Given the description of an element on the screen output the (x, y) to click on. 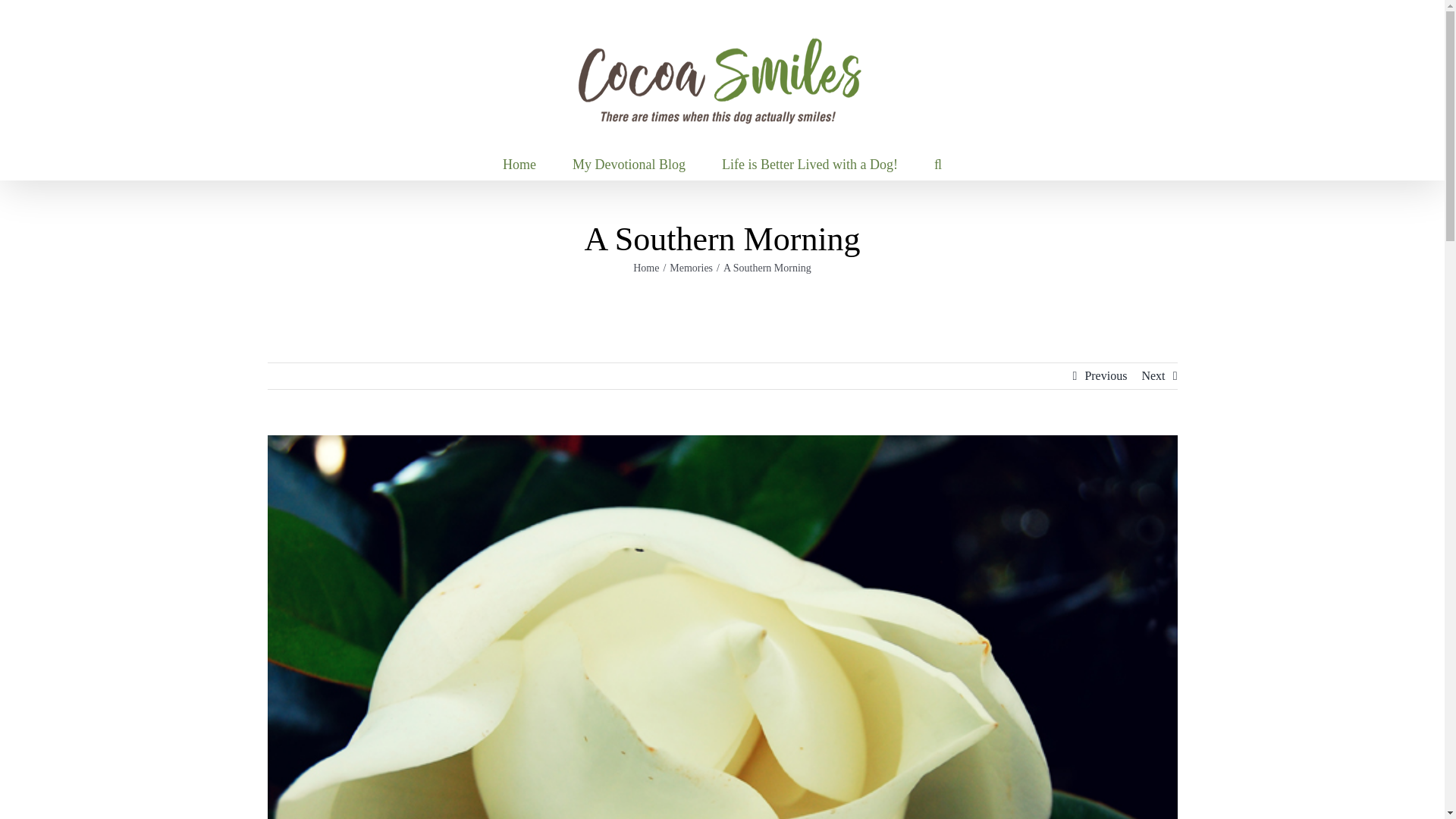
Home (518, 164)
Next (1152, 376)
My Devotional Blog (628, 164)
Home (646, 267)
Previous (1105, 376)
Memories (691, 267)
Life is Better Lived with a Dog! (810, 164)
